Given the description of an element on the screen output the (x, y) to click on. 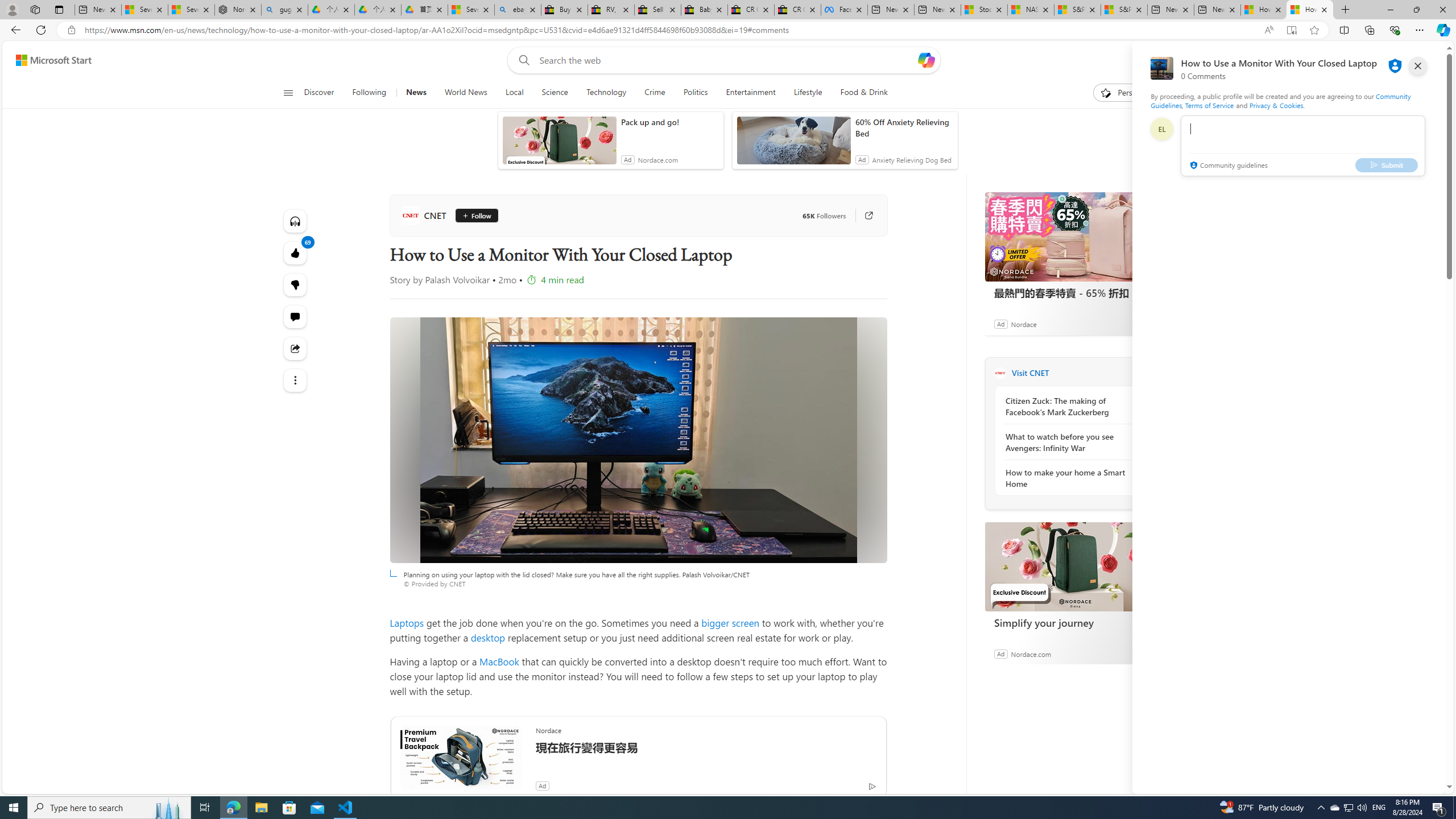
How to make your home a Smart Home (1066, 477)
Share this story (295, 348)
Science (554, 92)
guge yunpan - Search (284, 9)
bigger screen (730, 622)
Politics (695, 92)
Skip to footer (46, 59)
Listen to this article (295, 220)
Technology (605, 92)
Personalize (1128, 92)
